Given the description of an element on the screen output the (x, y) to click on. 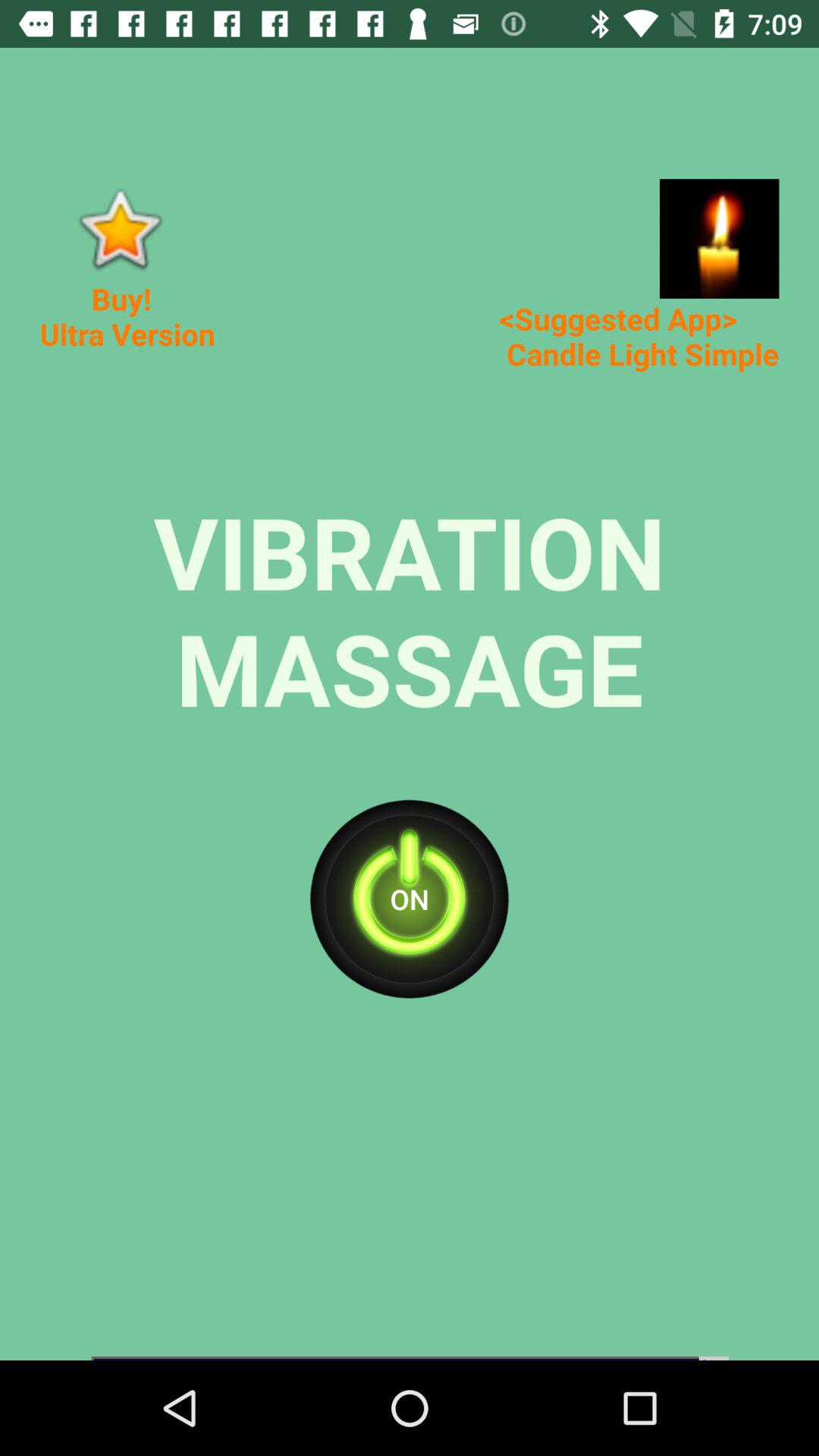
app logo (119, 228)
